Given the description of an element on the screen output the (x, y) to click on. 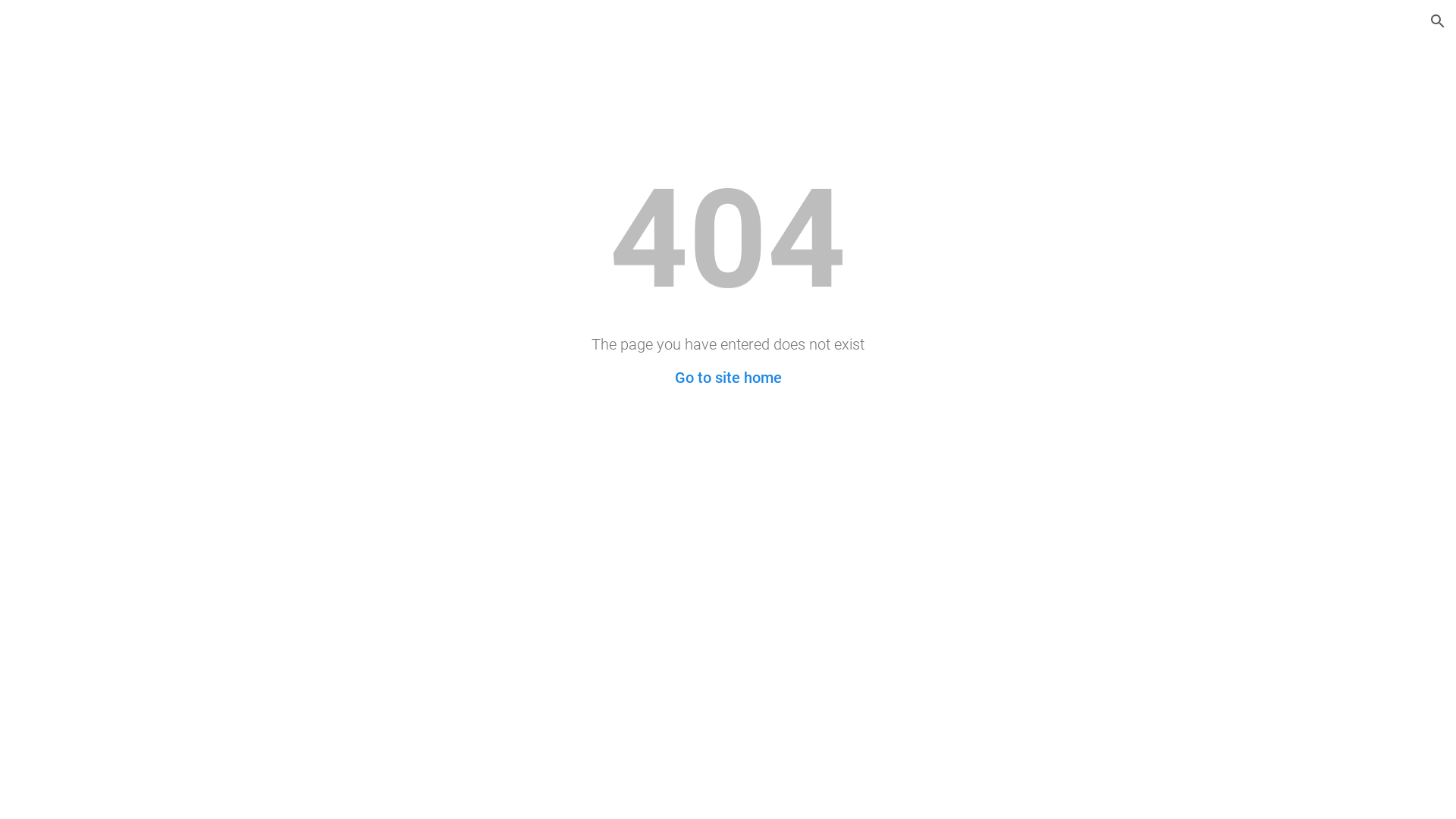
Go to site home Element type: text (727, 377)
